Given the description of an element on the screen output the (x, y) to click on. 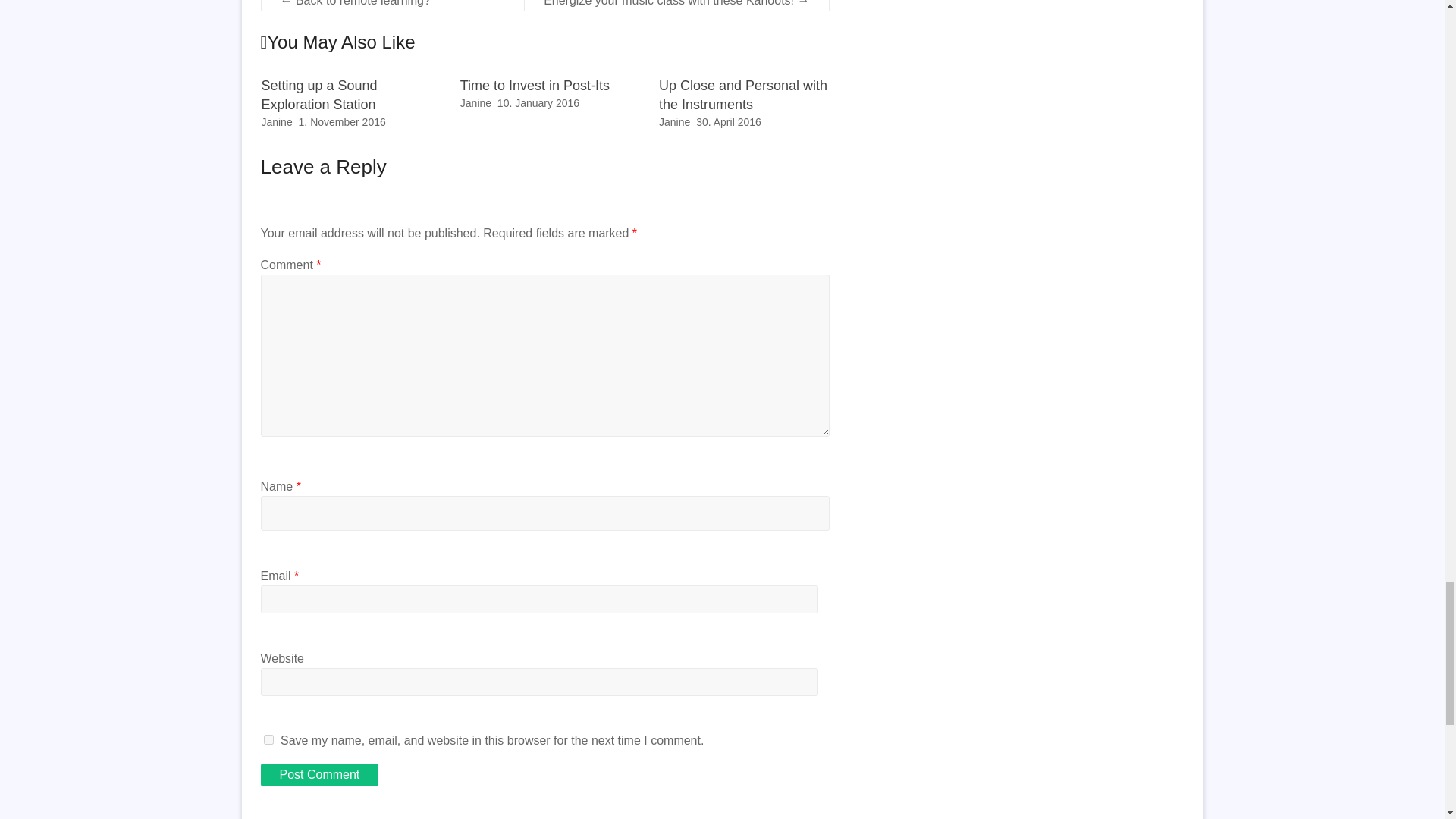
04:01 (728, 121)
10. January 2016 (538, 102)
Janine (276, 121)
yes (268, 739)
14:18 (538, 102)
Setting up a Sound Exploration Station (318, 93)
Janine (476, 102)
30. April 2016 (728, 121)
Time to Invest in Post-Its (535, 84)
Janine (674, 121)
Up Close and Personal with the Instruments (743, 93)
Setting up a Sound Exploration Station (318, 93)
Up Close and Personal with the Instruments (743, 93)
Time to Invest in Post-Its (535, 84)
02:48 (341, 121)
